Given the description of an element on the screen output the (x, y) to click on. 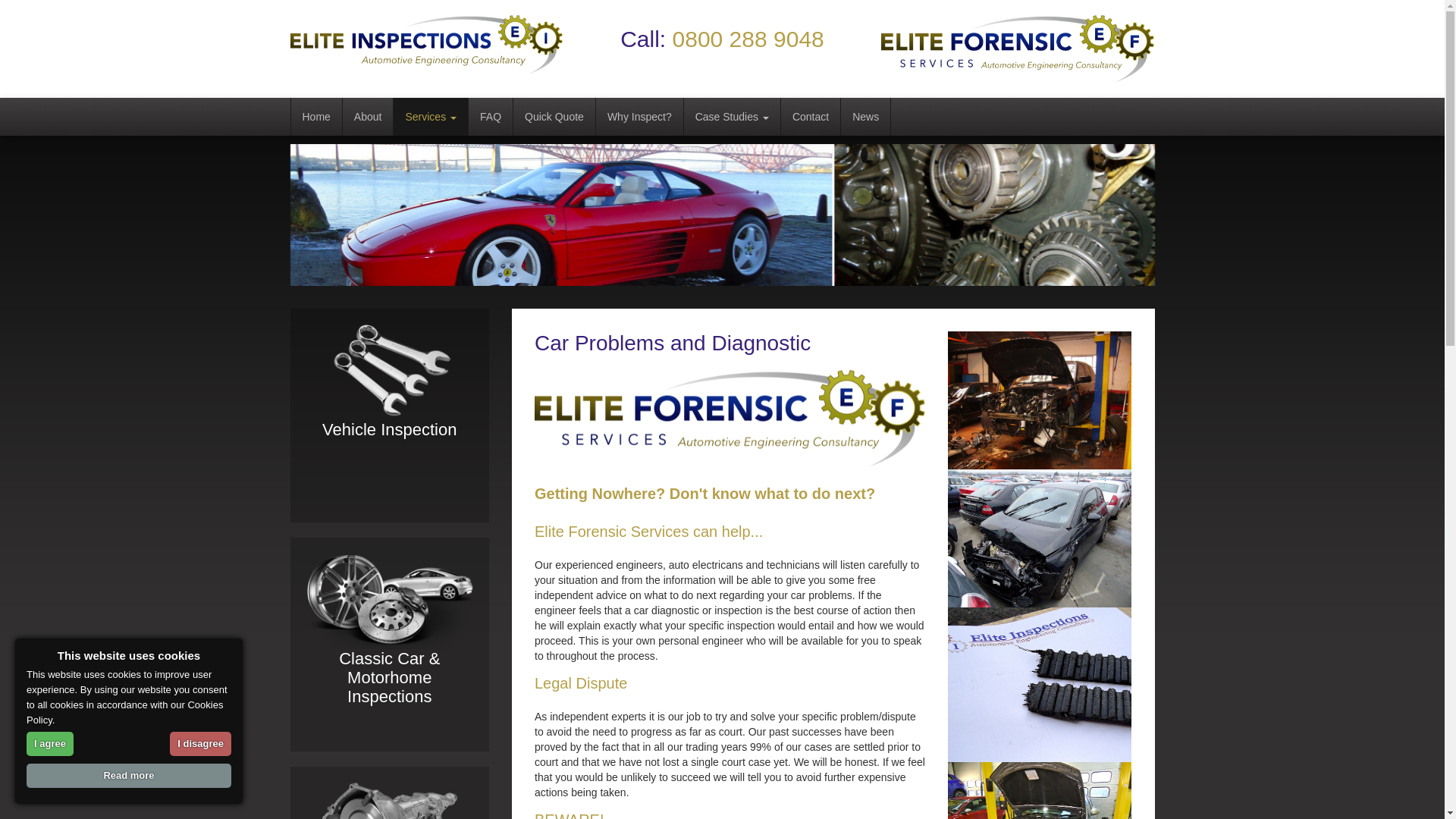
Elite Car Inspections (721, 214)
Car Disputes - Car Problems (1039, 400)
FAQ (490, 116)
Vehicle Inspection (389, 371)
Car Repair (1039, 790)
Home (316, 116)
Elite Inspections Logo (425, 44)
Why Inspect? (639, 116)
Car Inspections (1039, 684)
News (866, 116)
